Given the description of an element on the screen output the (x, y) to click on. 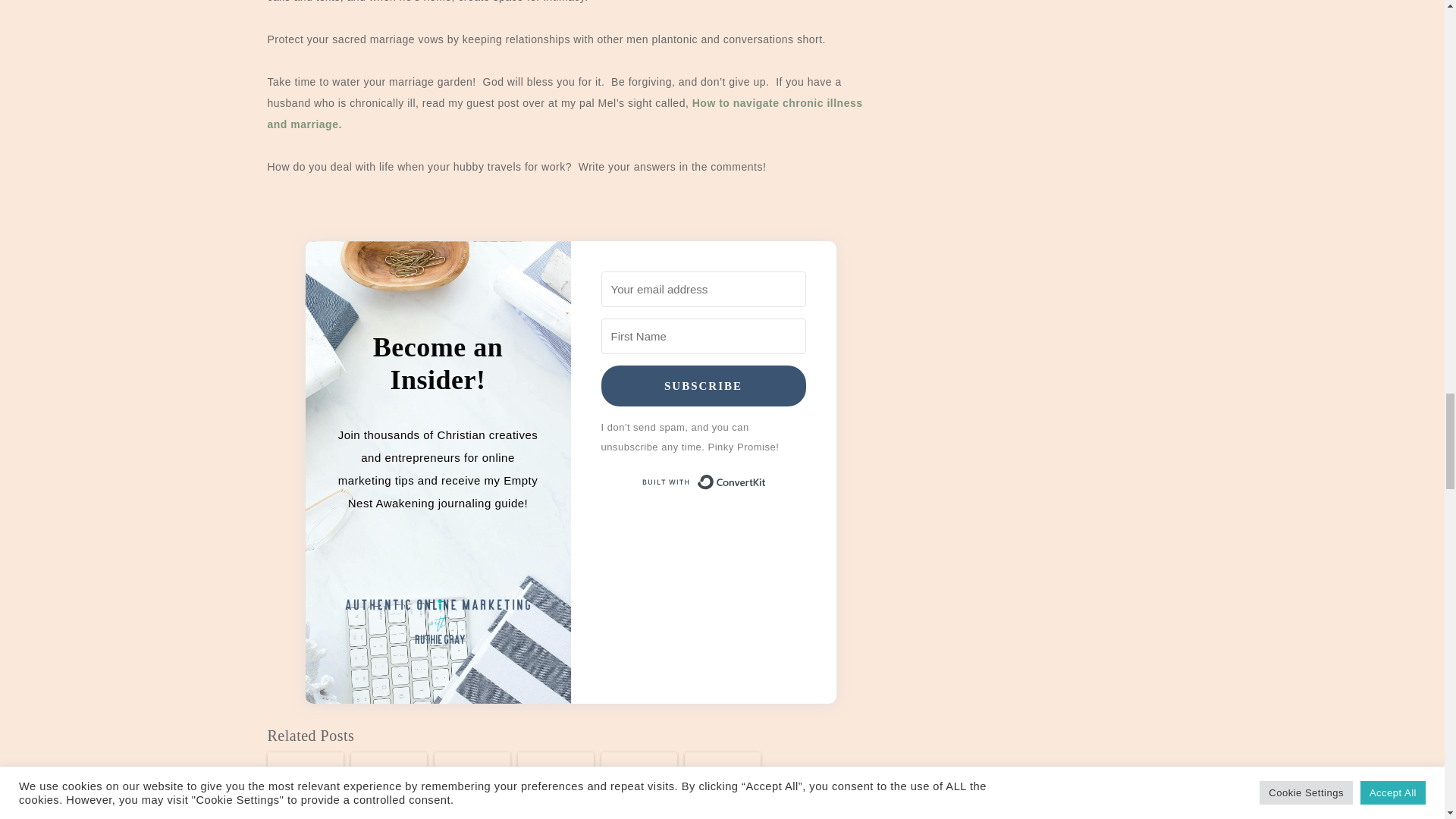
SUBSCRIBE (702, 385)
Built with ConvertKit (702, 482)
How to navigate chronic illness and marriage. (563, 113)
